Given the description of an element on the screen output the (x, y) to click on. 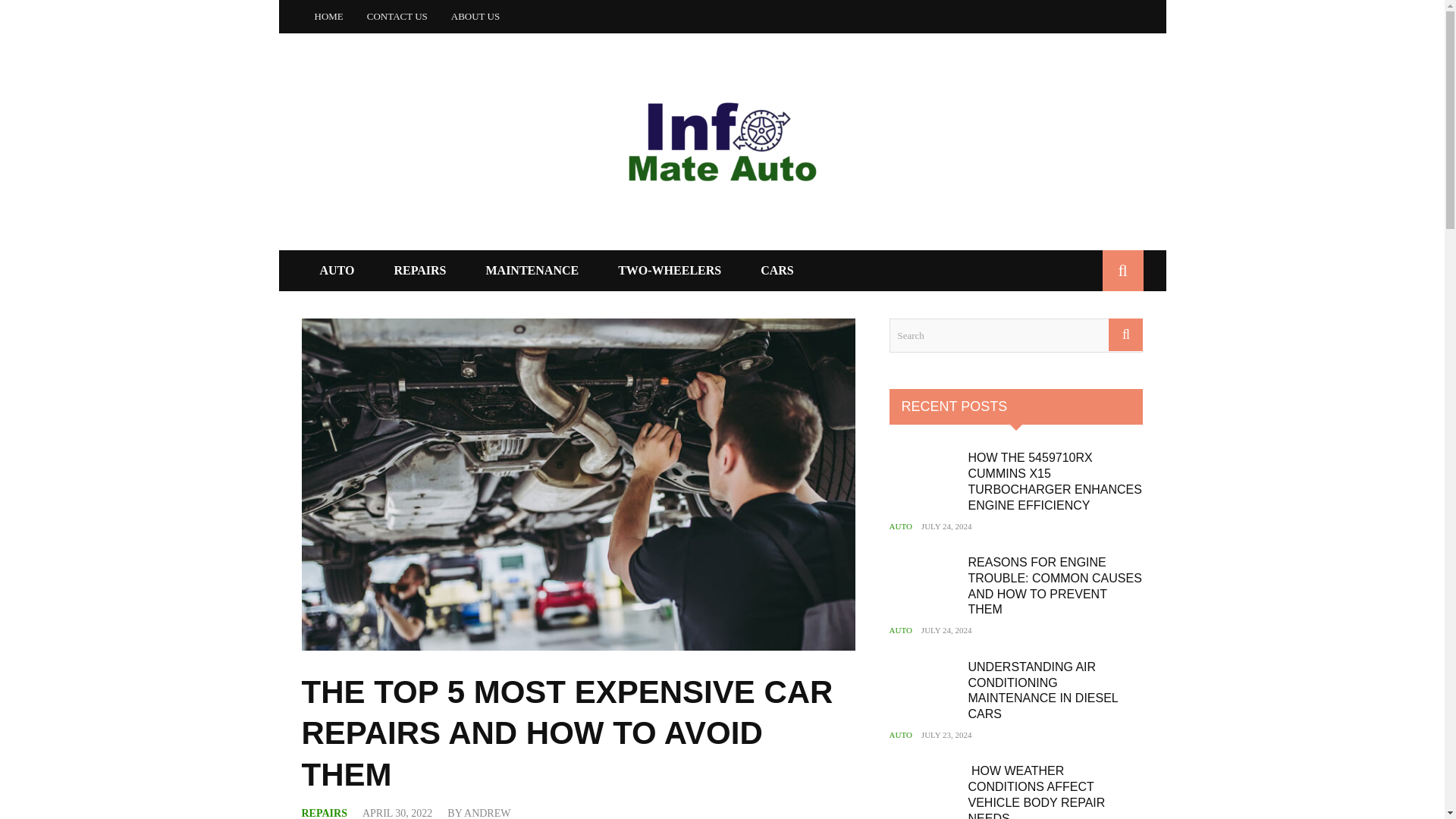
ANDREW (487, 813)
CARS (777, 269)
ABOUT US (475, 16)
MAINTENANCE (531, 269)
HOME (328, 16)
REPAIRS (419, 269)
Search (1015, 335)
CONTACT US (397, 16)
TWO-WHEELERS (669, 269)
AUTO (336, 269)
REPAIRS (324, 813)
